Given the description of an element on the screen output the (x, y) to click on. 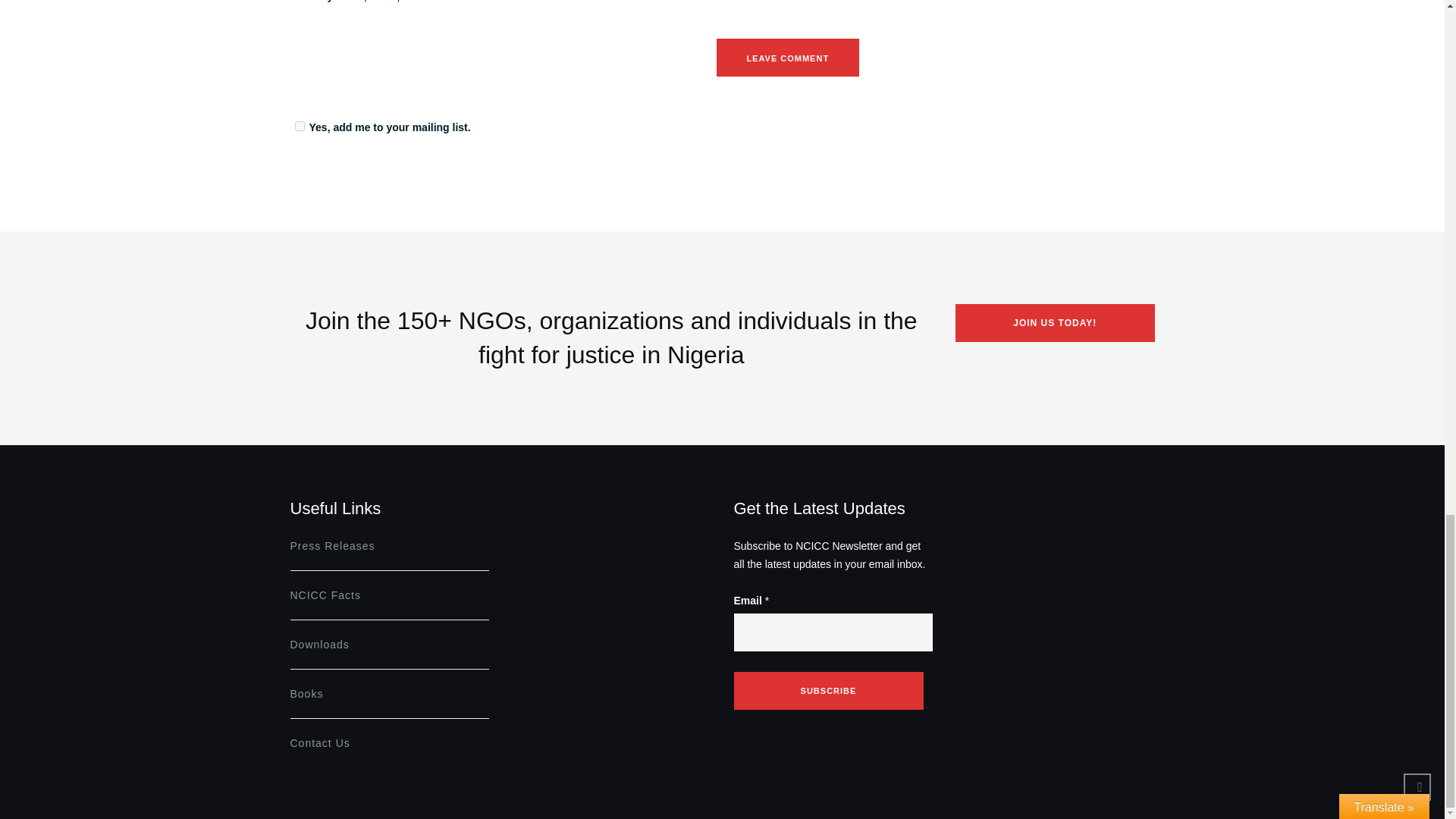
Leave Comment (787, 57)
Subscribe (828, 690)
Press Releases (331, 545)
Subscribe (828, 690)
Contact Us (319, 743)
Books (306, 693)
Downloads (319, 644)
Leave Comment (787, 57)
1 (298, 126)
JOIN US TODAY! (1054, 322)
